Given the description of an element on the screen output the (x, y) to click on. 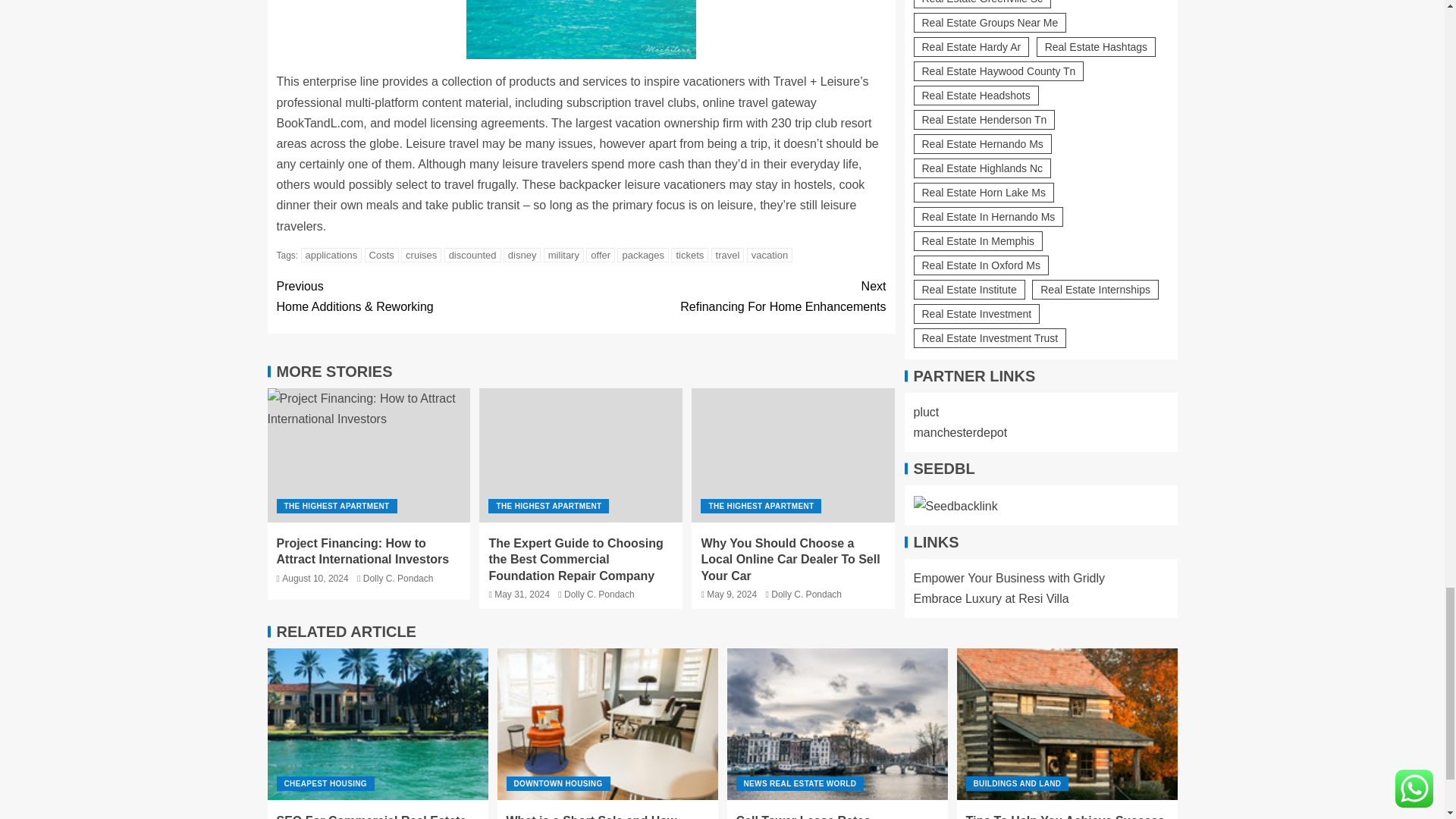
Costs (381, 255)
Project Financing: How to Attract International Investors (368, 455)
disney (522, 255)
cruises (421, 255)
applications (331, 255)
offer (600, 255)
discounted (472, 255)
military (563, 255)
